Given the description of an element on the screen output the (x, y) to click on. 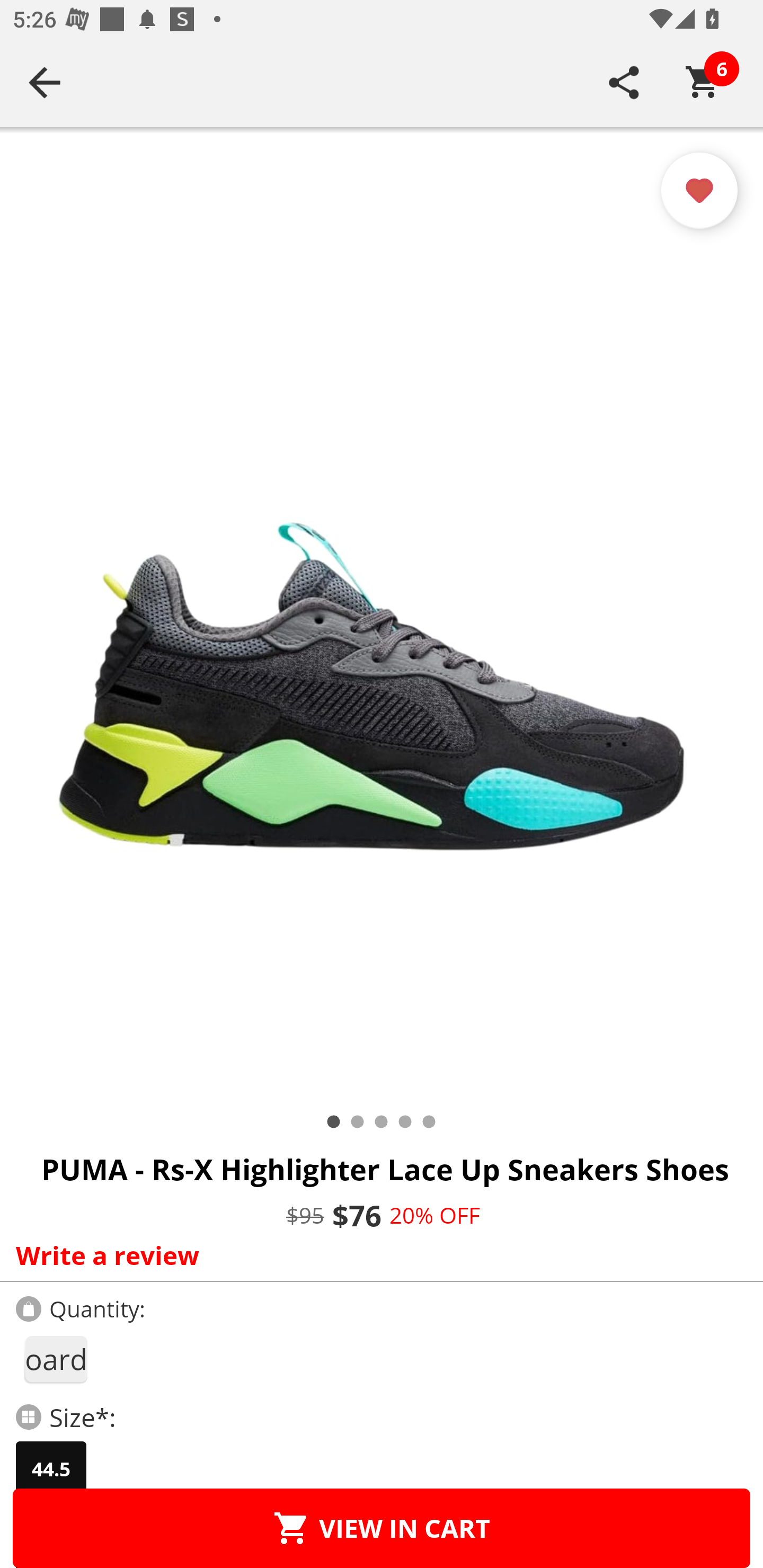
Navigate up (44, 82)
SHARE (623, 82)
Cart (703, 81)
Write a review (377, 1255)
1keyboard (55, 1358)
44.5 (51, 1468)
VIEW IN CART (381, 1528)
